Given the description of an element on the screen output the (x, y) to click on. 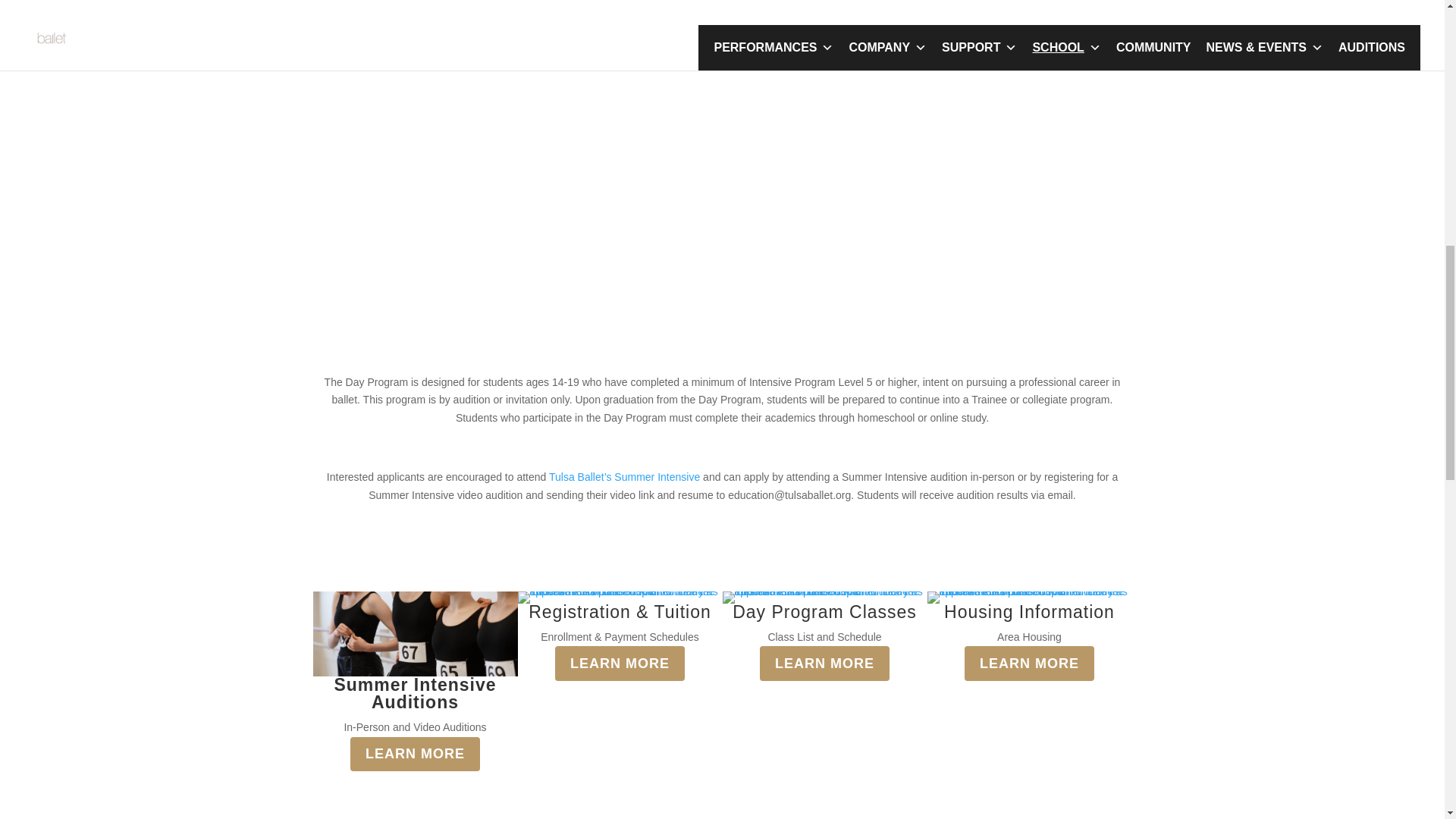
LEARN MORE (415, 754)
CDE Web Photo Layout (824, 597)
LEARN MORE (619, 663)
